Given the description of an element on the screen output the (x, y) to click on. 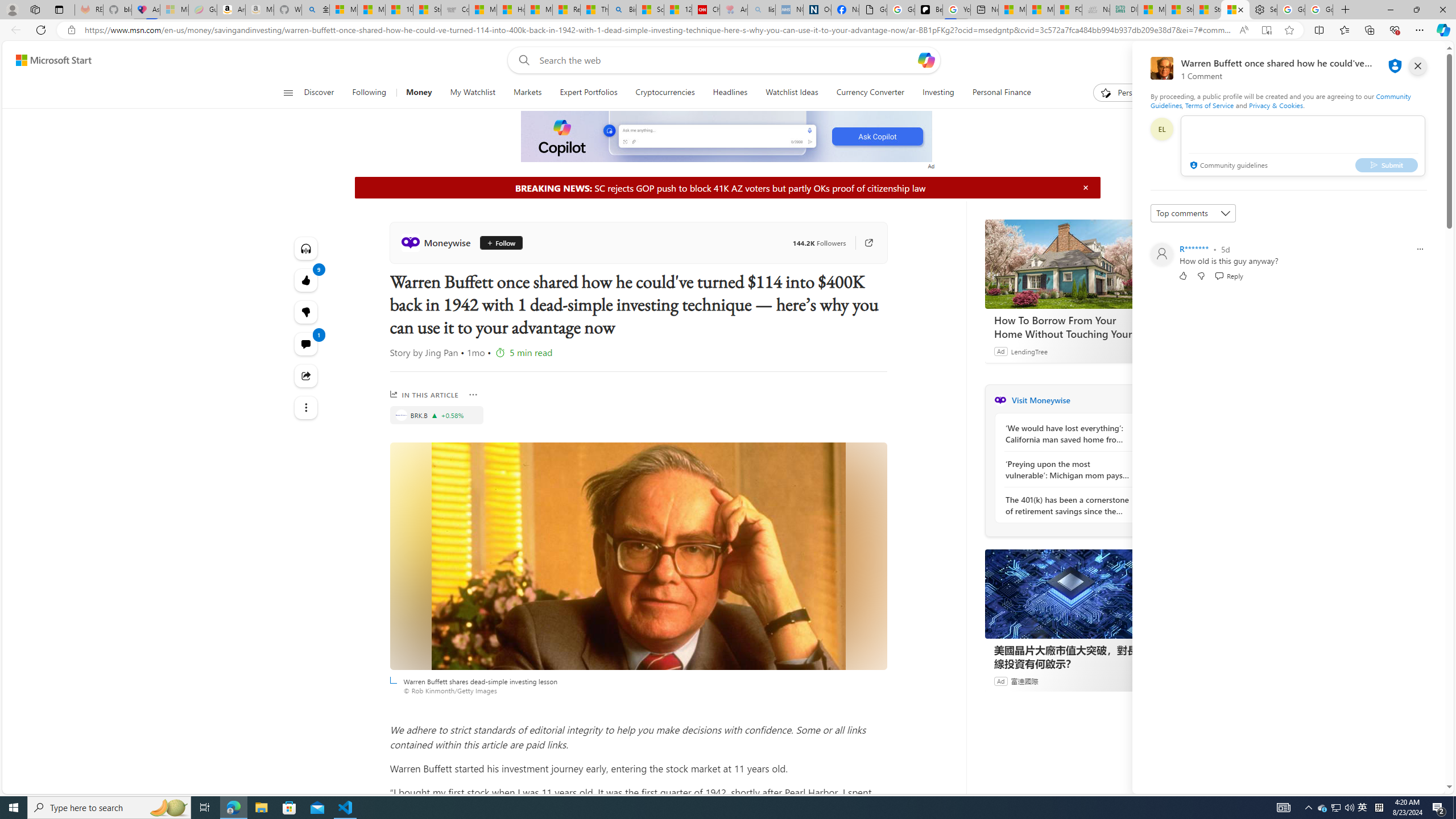
Go to publisher's site (863, 242)
My Watchlist (472, 92)
Headlines (730, 92)
9 Like (305, 279)
Currency Converter (869, 92)
Hide (1084, 187)
Following (370, 92)
Money (419, 92)
Warren Buffett shares dead-simple investing lesson (637, 555)
